Given the description of an element on the screen output the (x, y) to click on. 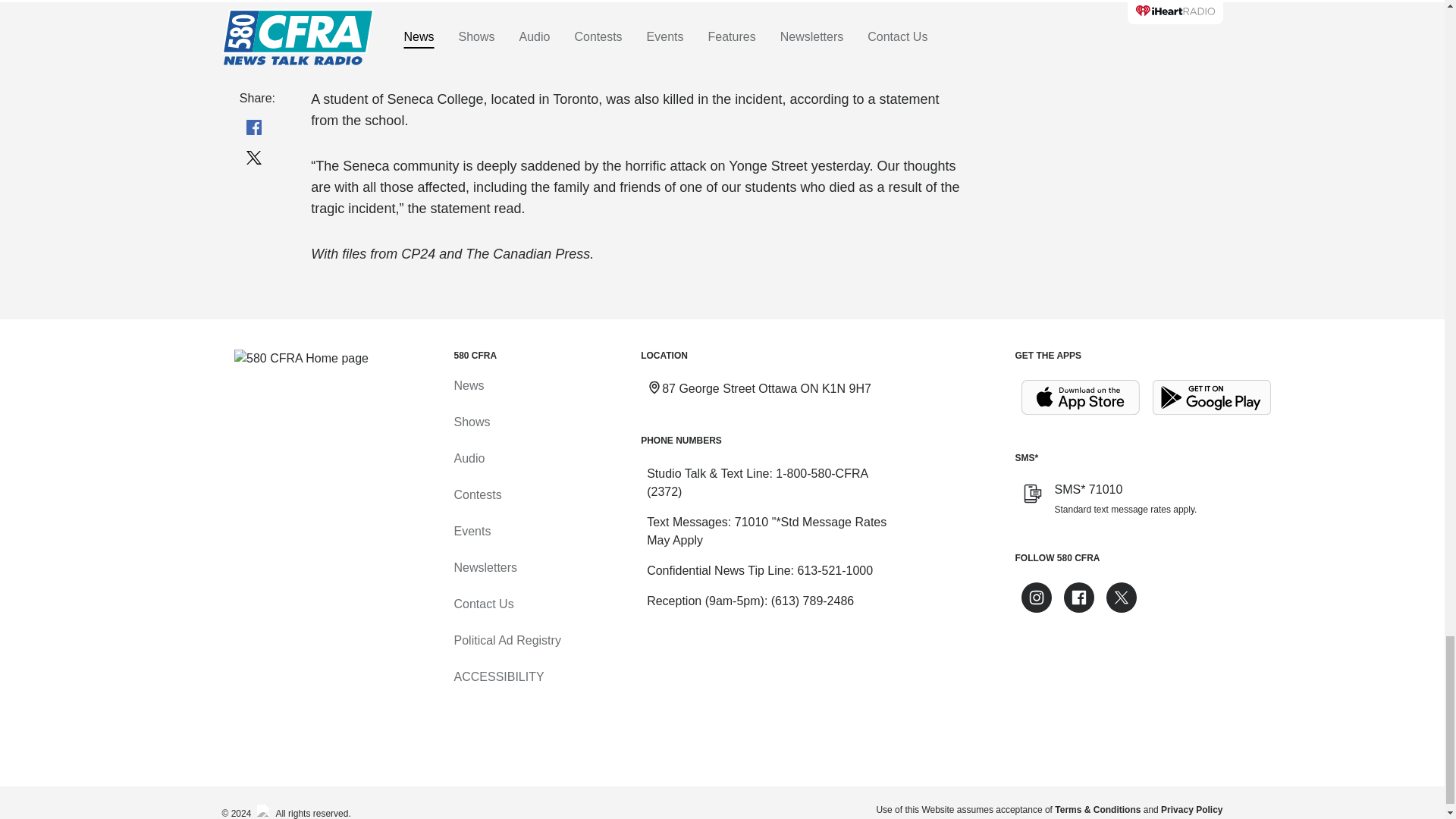
Get it on Google Play (1212, 397)
Accessibility (497, 676)
ACCESSIBILITY (497, 676)
Privacy Policy (1191, 809)
Shows (470, 421)
Download on the App Store (1080, 397)
Audio (468, 458)
Newsletters (484, 567)
Political Ad Registry (506, 640)
613-521-1000 (834, 570)
